Given the description of an element on the screen output the (x, y) to click on. 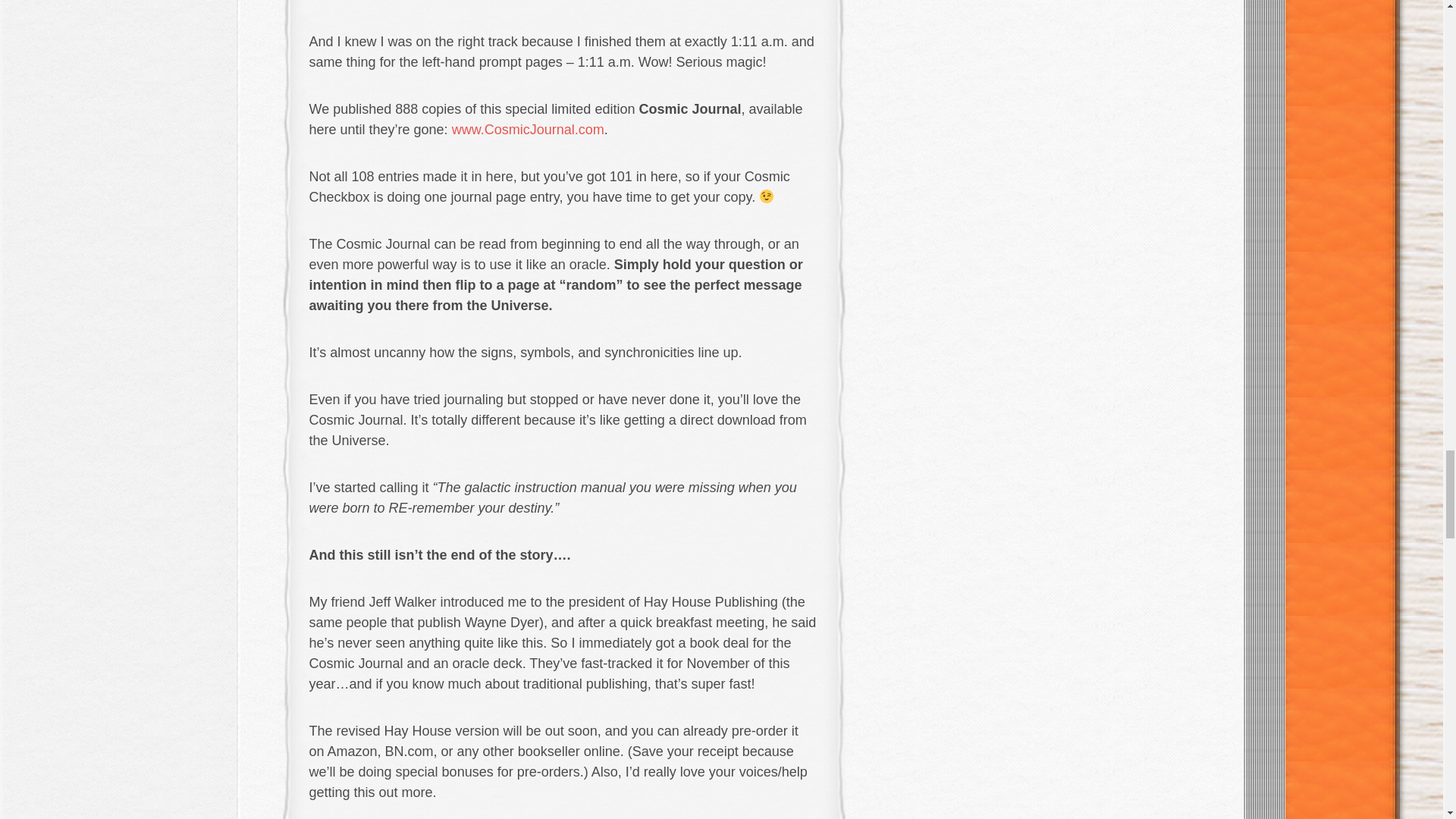
www.CosmicJournal.com (526, 129)
